Given the description of an element on the screen output the (x, y) to click on. 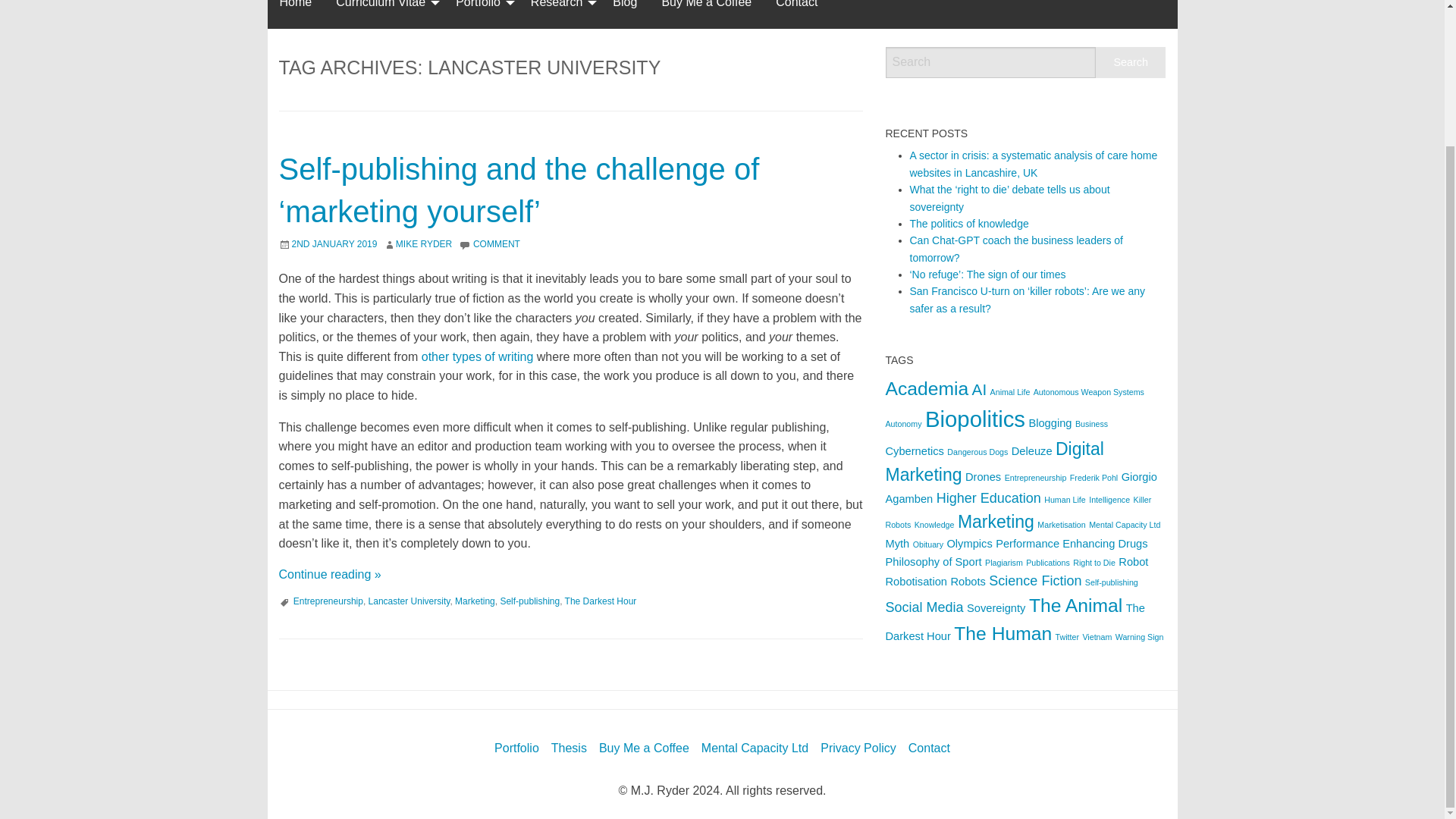
2ND JANUARY 2019 (334, 244)
Contact (795, 13)
Research (558, 13)
Portfolio (481, 13)
Blog (624, 13)
Search (1131, 61)
Home (294, 13)
Curriculum Vitae (383, 13)
COMMENT (496, 244)
Buy Me a Coffee (705, 13)
